Given the description of an element on the screen output the (x, y) to click on. 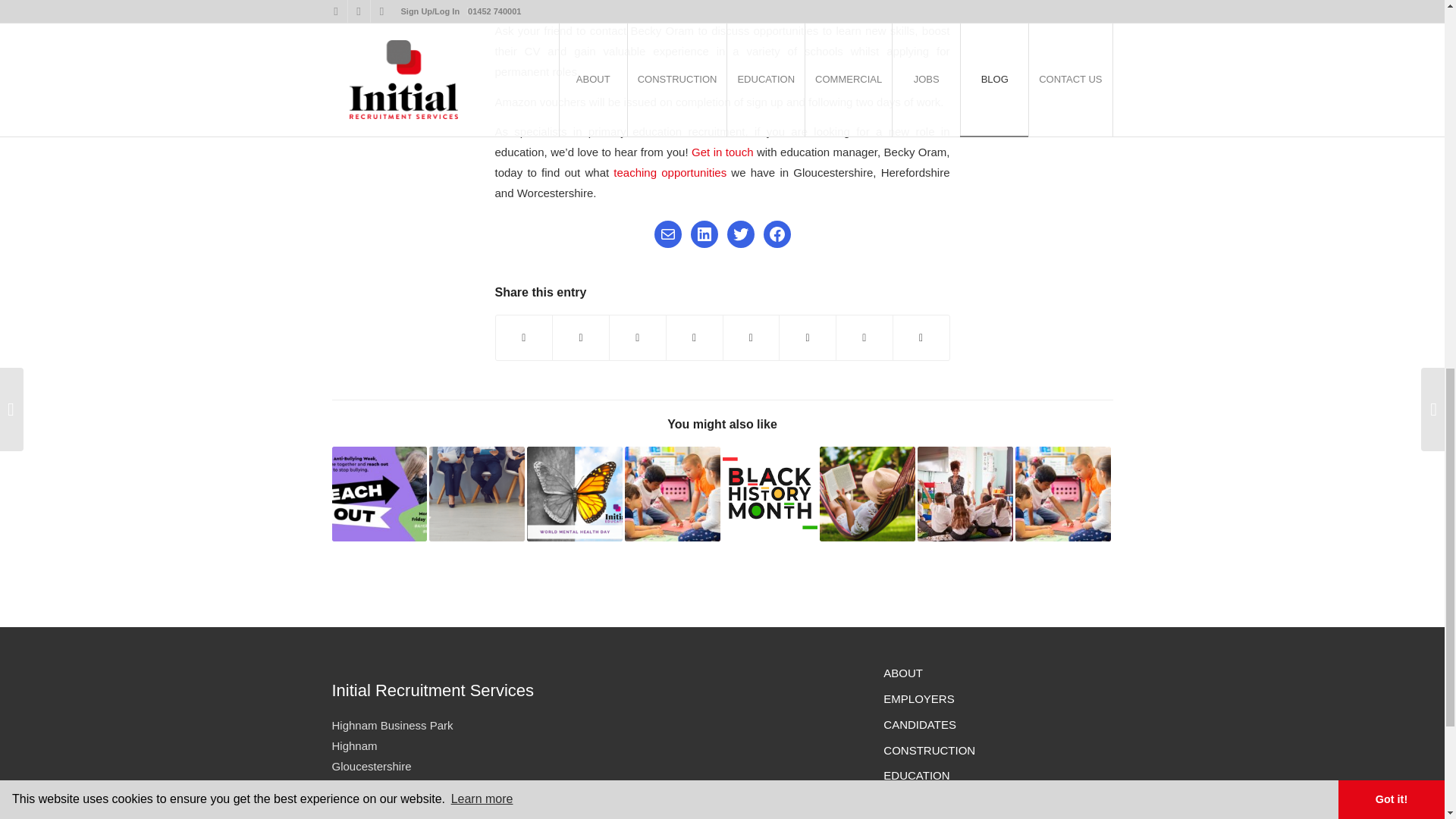
Anti-Bullying Week in Schools (379, 494)
